Given the description of an element on the screen output the (x, y) to click on. 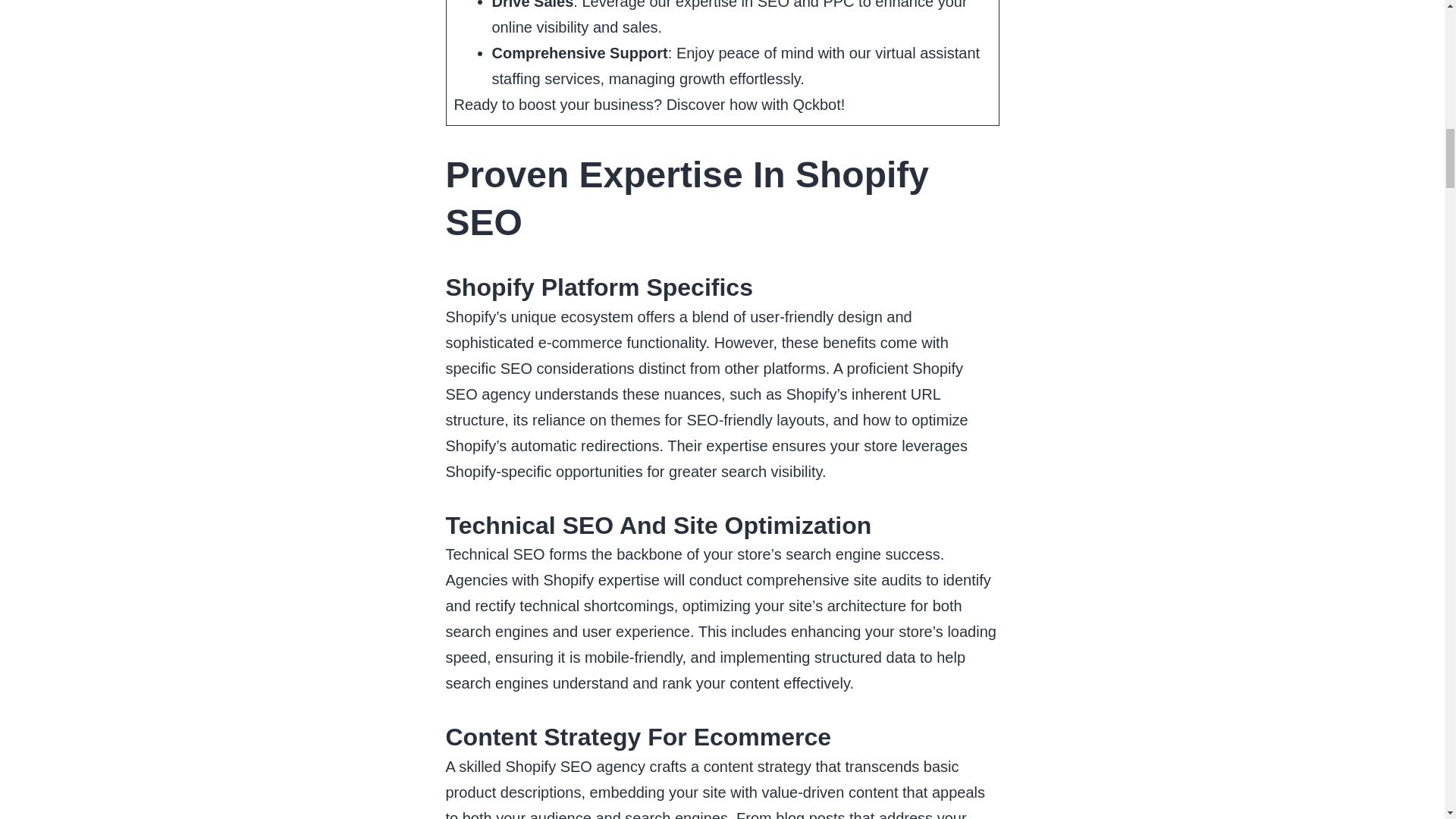
Discover how with Qckbot (753, 104)
